Given the description of an element on the screen output the (x, y) to click on. 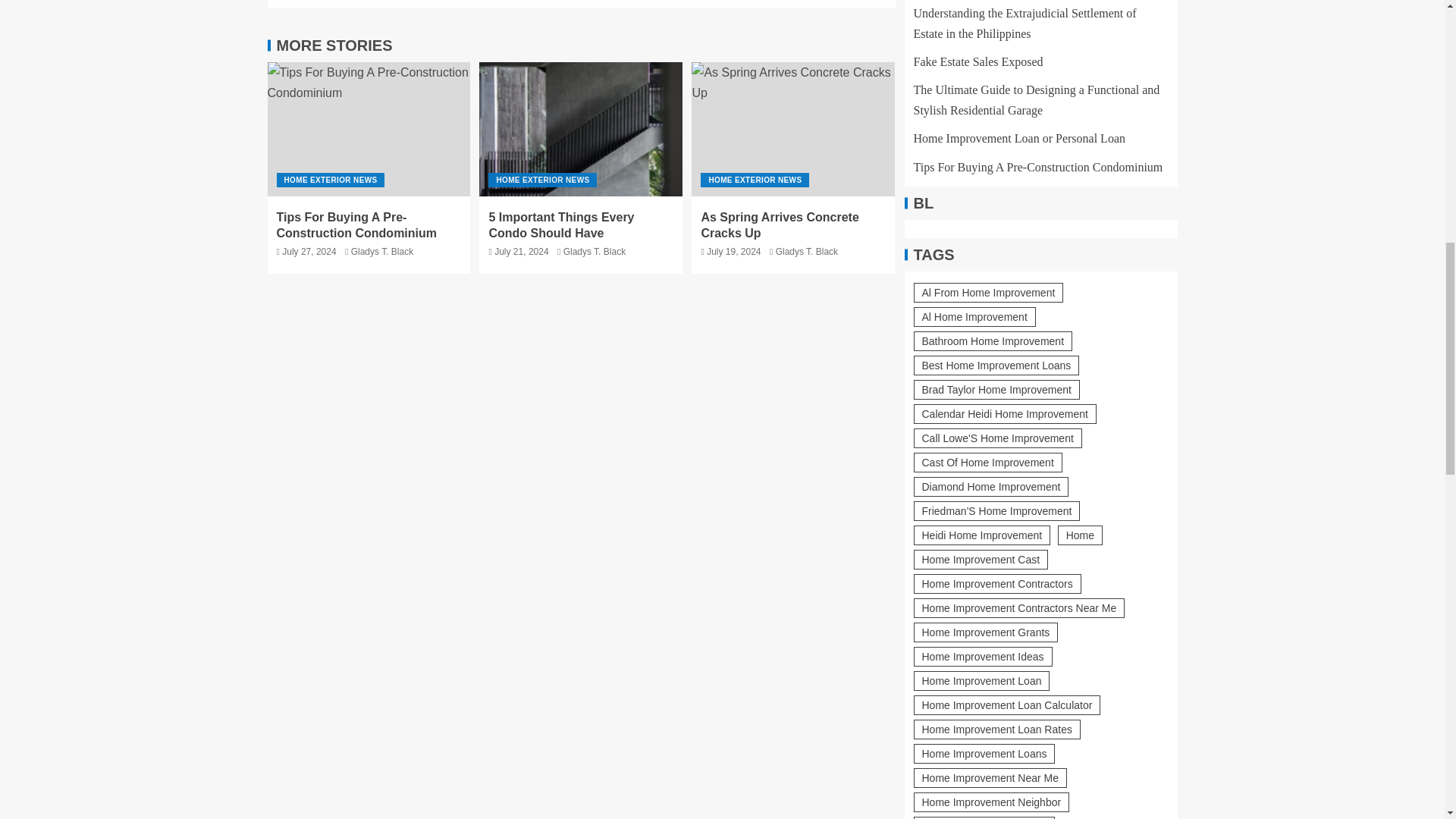
Gladys T. Black (381, 251)
Tips For Buying A Pre-Construction Condominium (356, 224)
Tips For Buying A Pre-Construction Condominium (368, 129)
As Spring Arrives Concrete Cracks Up (793, 129)
5 Important Things Every Condo Should Have (580, 129)
HOME EXTERIOR NEWS (541, 179)
HOME EXTERIOR NEWS (330, 179)
